Given the description of an element on the screen output the (x, y) to click on. 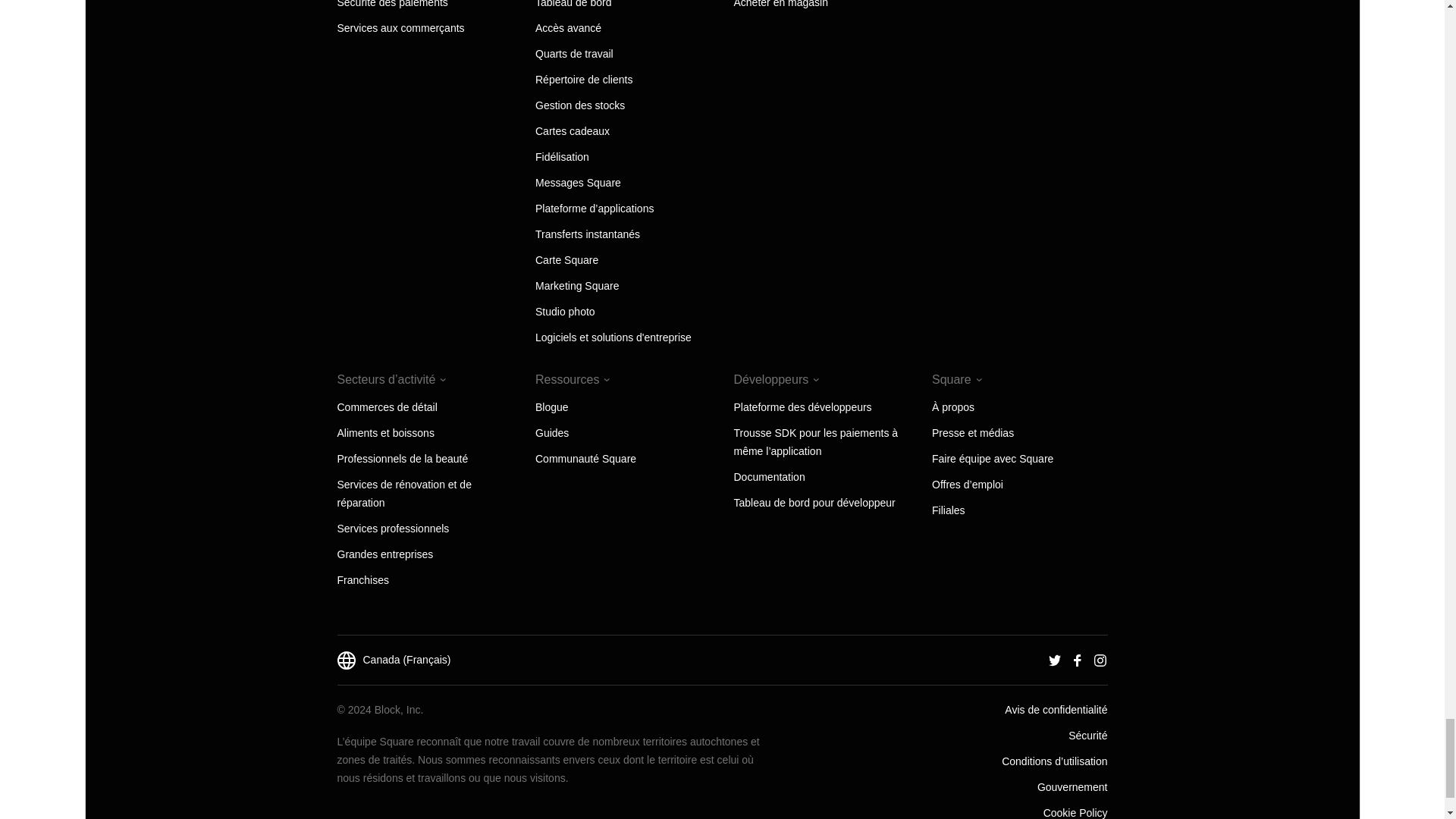
Instagram (1099, 659)
Twitter (1053, 659)
Facebook (1076, 659)
